Given the description of an element on the screen output the (x, y) to click on. 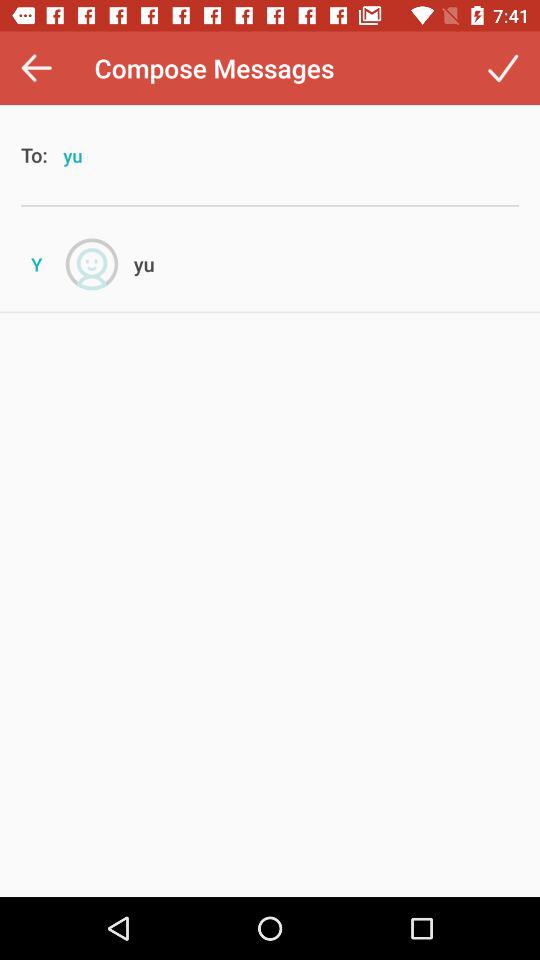
turn on icon above yu icon (502, 67)
